Given the description of an element on the screen output the (x, y) to click on. 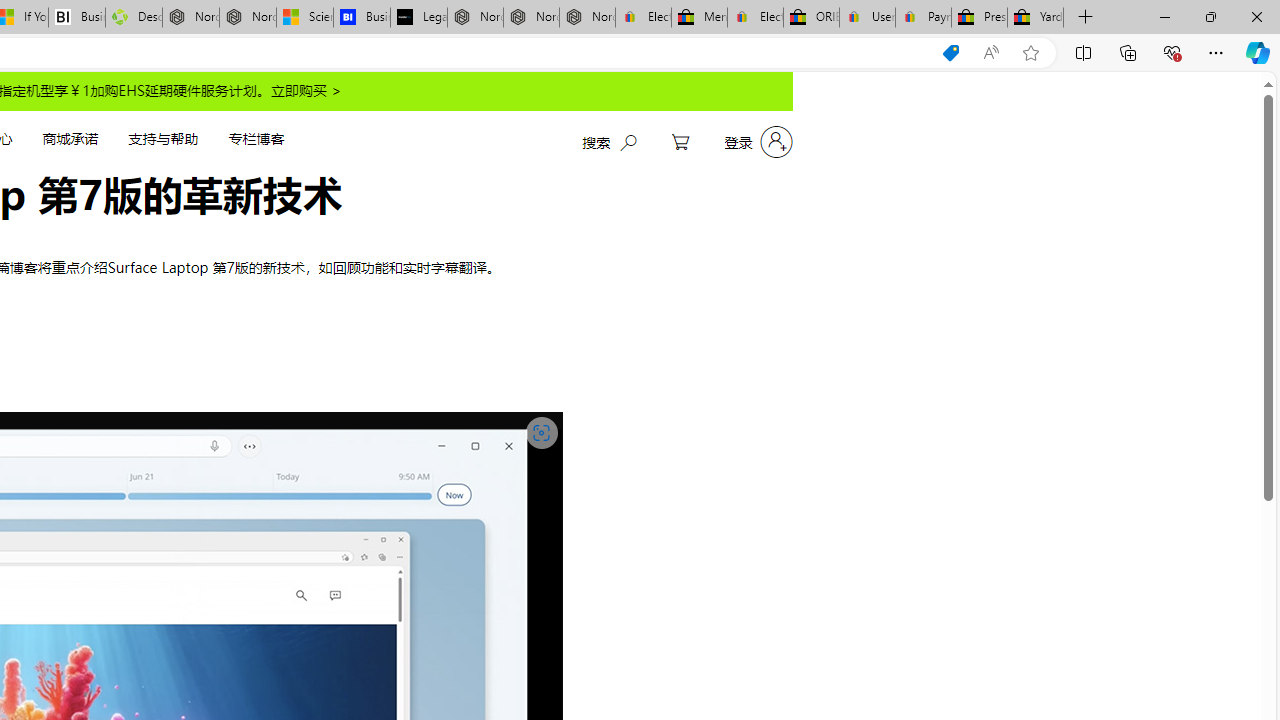
Shopping in Microsoft Edge (950, 53)
